Given the description of an element on the screen output the (x, y) to click on. 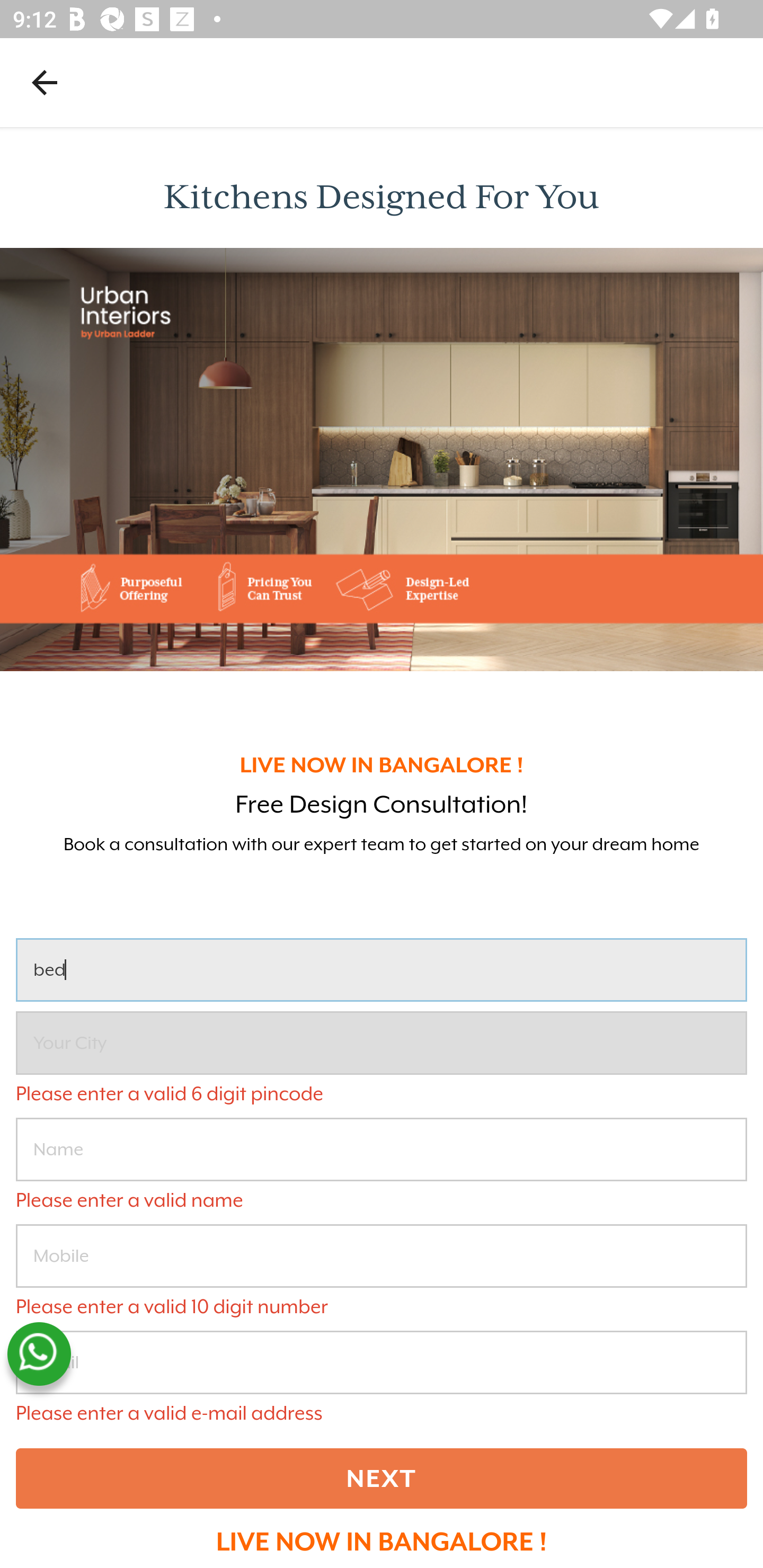
Navigate up (44, 82)
bed Next LIVE NOW IN BANGALORE ! (381, 1246)
bed (381, 970)
whatsapp (38, 1353)
Next (381, 1478)
